Given the description of an element on the screen output the (x, y) to click on. 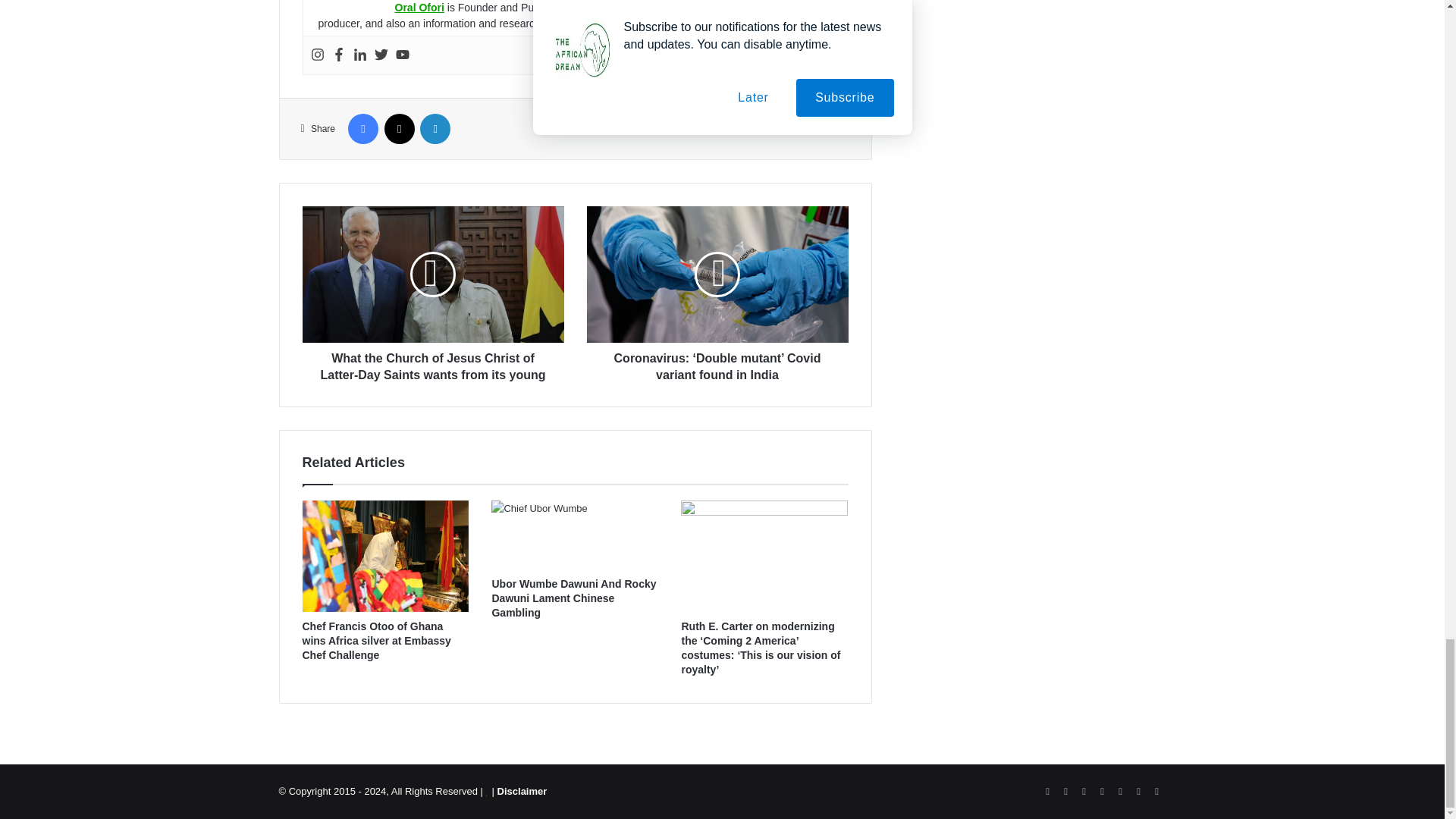
Youtube (402, 55)
Facebook (338, 55)
Twitter (381, 55)
Instagram (317, 55)
Linkedin (359, 55)
